Given the description of an element on the screen output the (x, y) to click on. 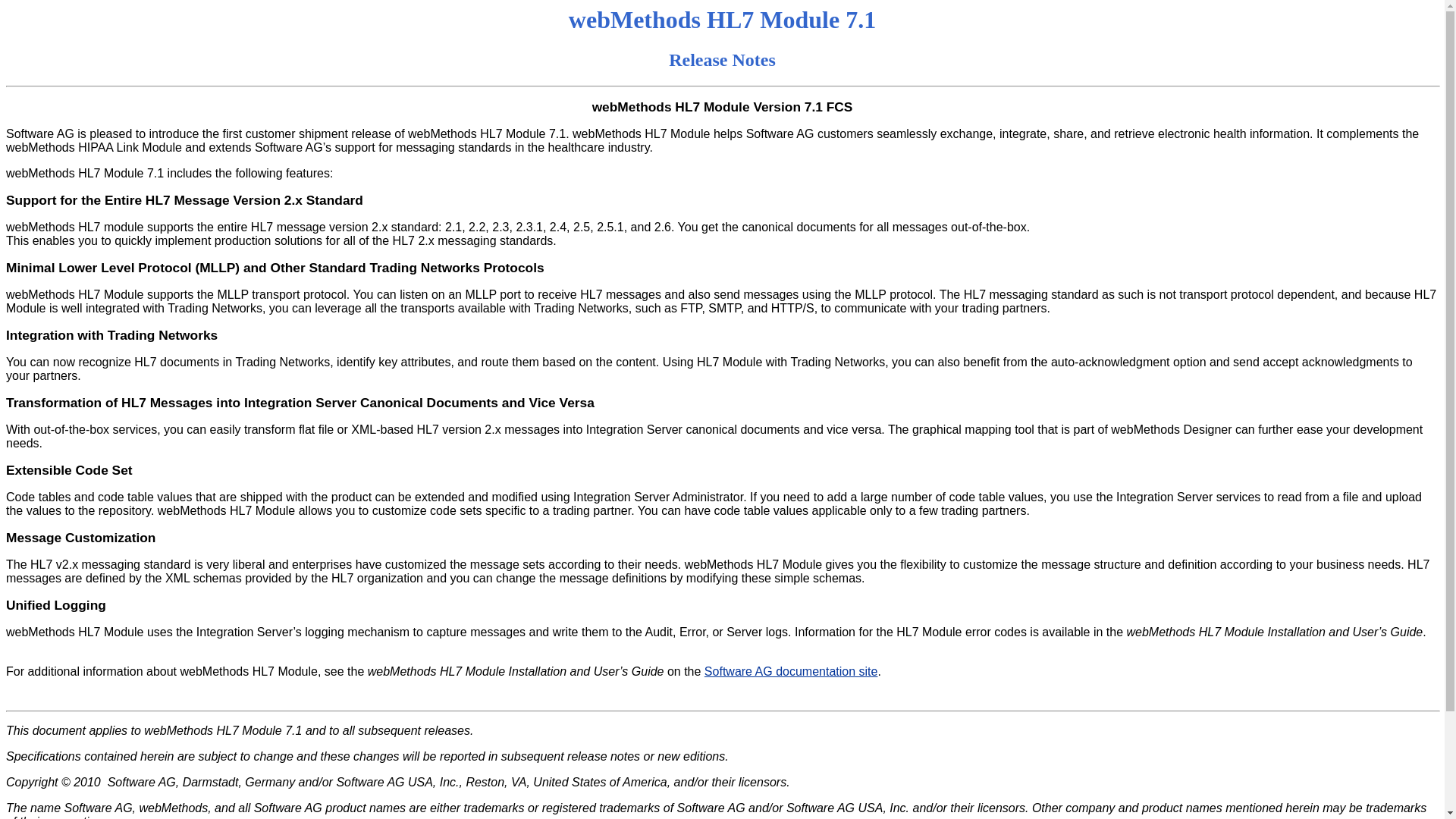
Software AG documentation site (790, 671)
